Given the description of an element on the screen output the (x, y) to click on. 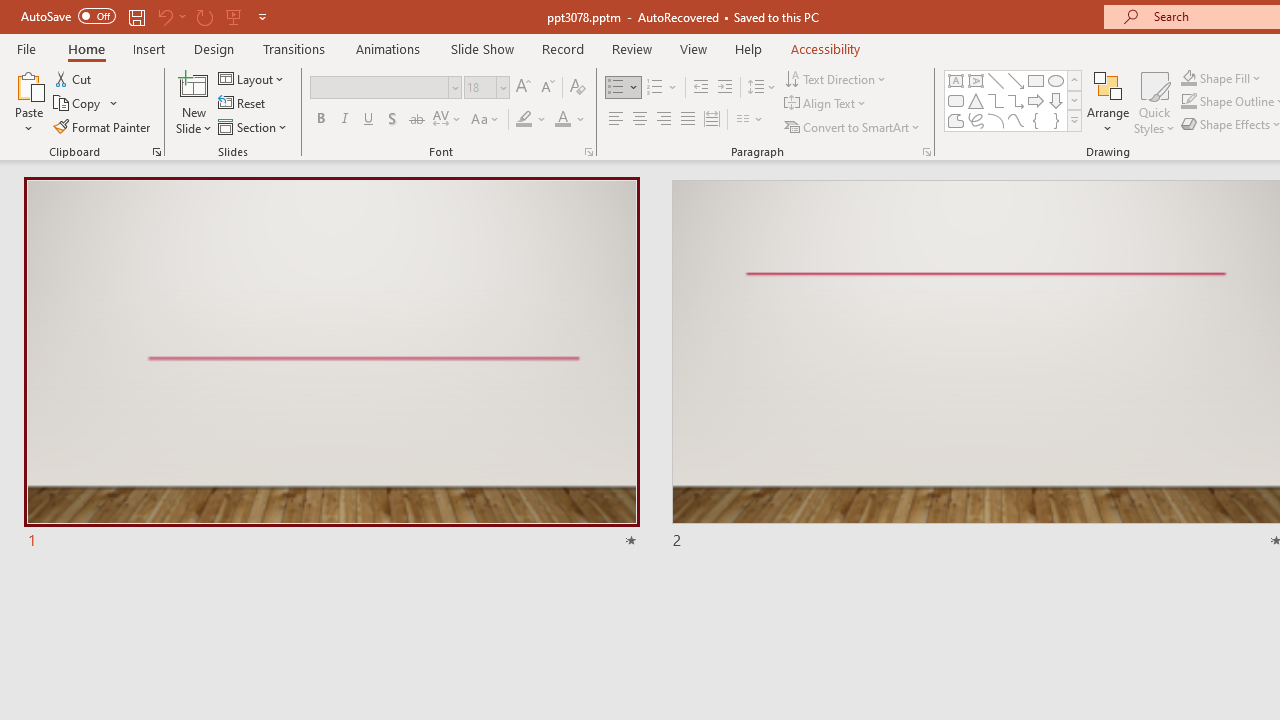
Arrow: Down (1055, 100)
Section (254, 126)
Oval (1055, 80)
Rectangle: Rounded Corners (955, 100)
Text Highlight Color Yellow (524, 119)
Left Brace (1035, 120)
Office Clipboard... (156, 151)
Shape Outline Green, Accent 1 (1188, 101)
Character Spacing (447, 119)
